Given the description of an element on the screen output the (x, y) to click on. 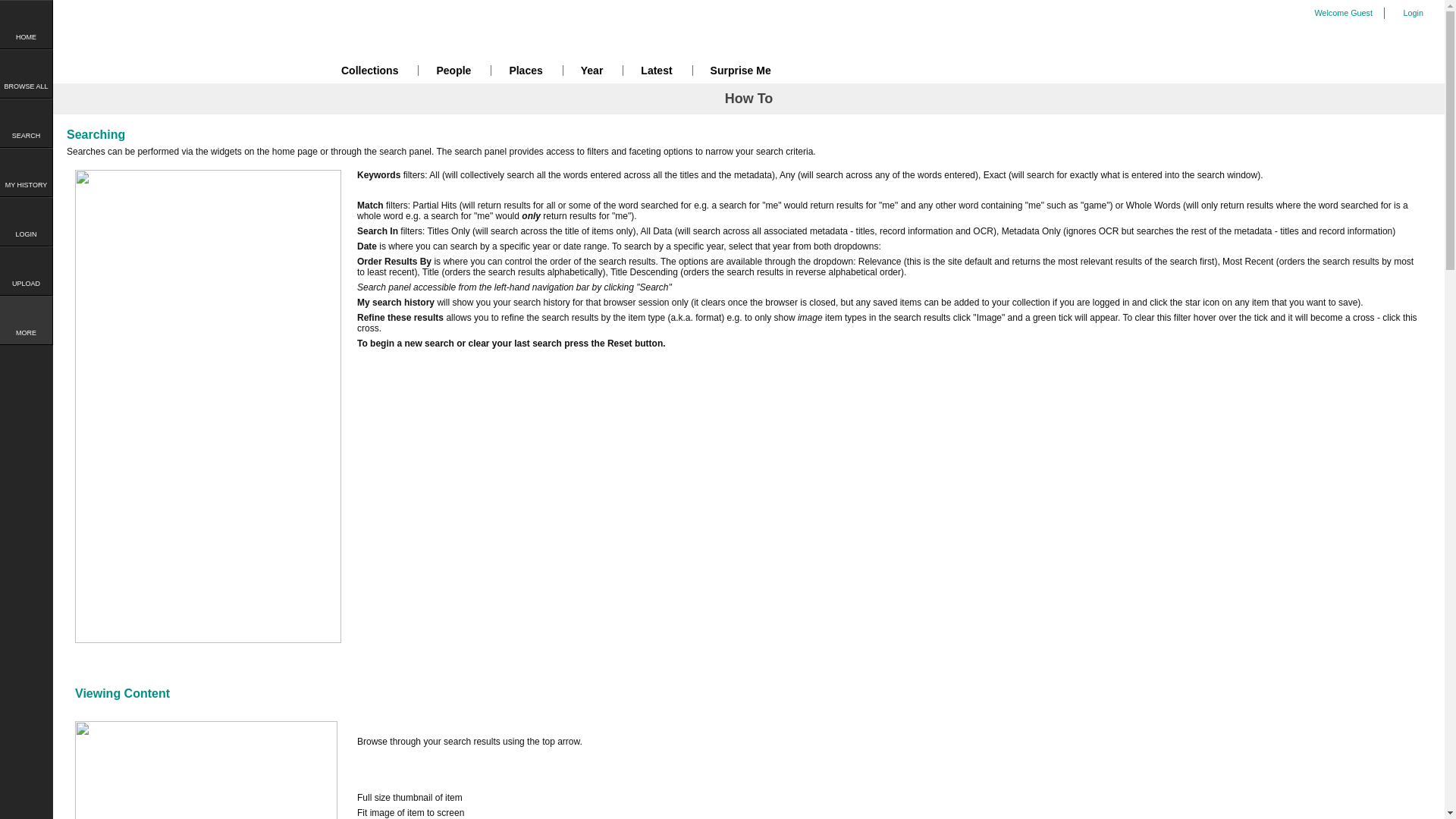
Collections Element type: text (369, 72)
Surprise Me Element type: text (740, 72)
BROWSE ALL Element type: text (26, 73)
HOME Element type: text (26, 24)
Year Element type: text (591, 72)
LOGIN Element type: text (26, 221)
Login Element type: text (1416, 12)
Guest Element type: text (1361, 12)
MORE Element type: text (26, 320)
Places Element type: text (525, 72)
People Element type: text (453, 72)
Latest Element type: text (655, 72)
UPLOAD Element type: text (26, 270)
MY HISTORY Element type: text (26, 172)
SEARCH Element type: text (26, 123)
